Given the description of an element on the screen output the (x, y) to click on. 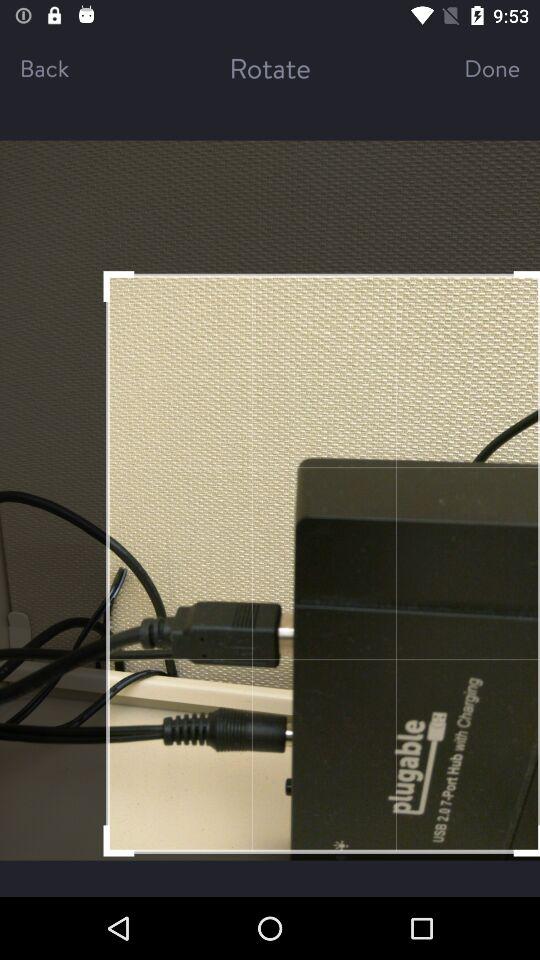
swipe until back item (65, 67)
